Given the description of an element on the screen output the (x, y) to click on. 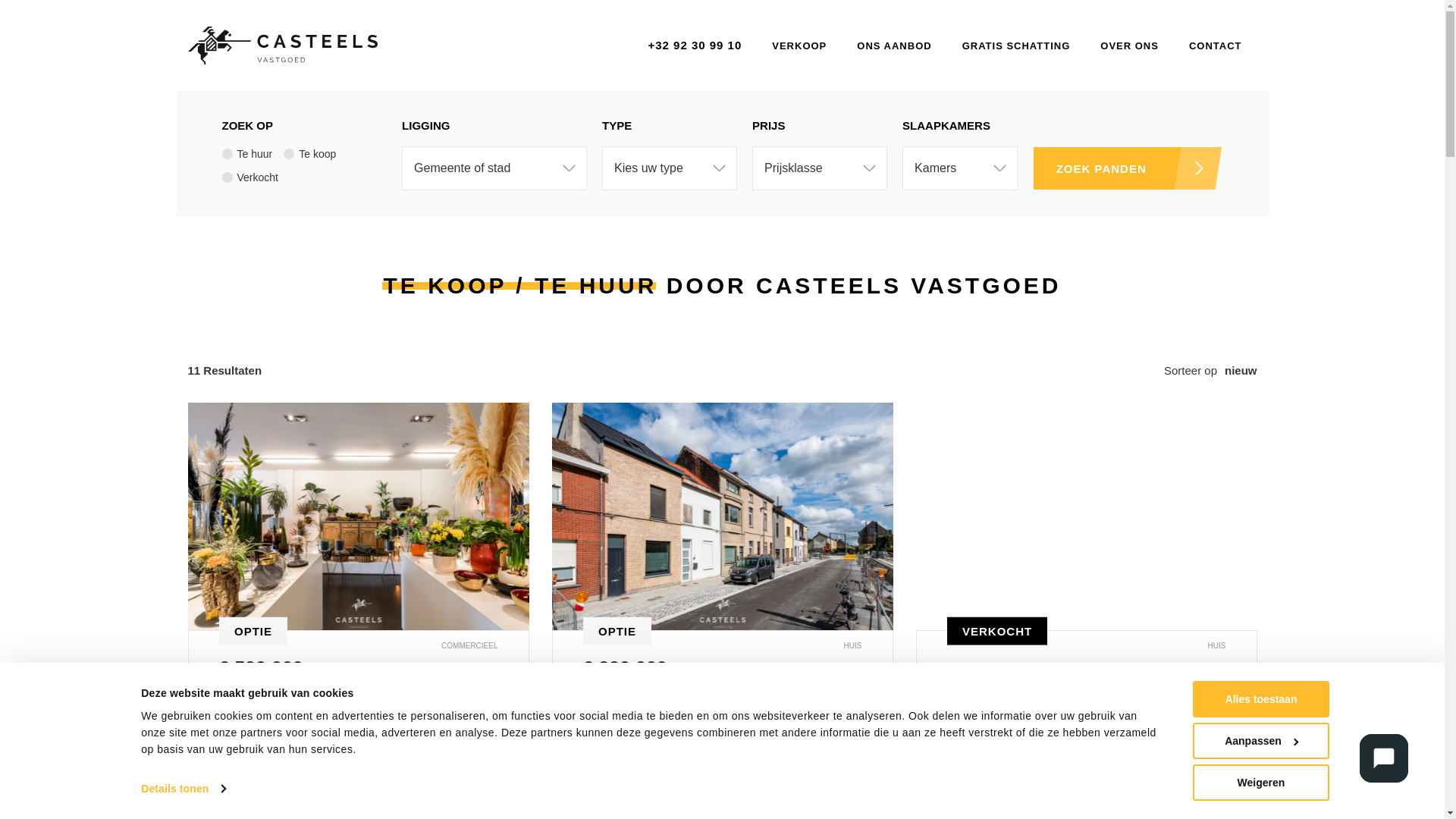
ONS AANBOD Element type: text (893, 45)
Weigeren Element type: text (1260, 782)
VERKOOP Element type: text (798, 45)
Chatbot Element type: hover (1383, 757)
+32 92 30 99 10 Element type: text (694, 45)
GRATIS SCHATTING Element type: text (1016, 45)
Alles toestaan Element type: text (1260, 698)
Details tonen Element type: text (183, 788)
Aanpassen Element type: text (1260, 740)
CONTACT Element type: text (1215, 45)
OVER ONS Element type: text (1129, 45)
